Given the description of an element on the screen output the (x, y) to click on. 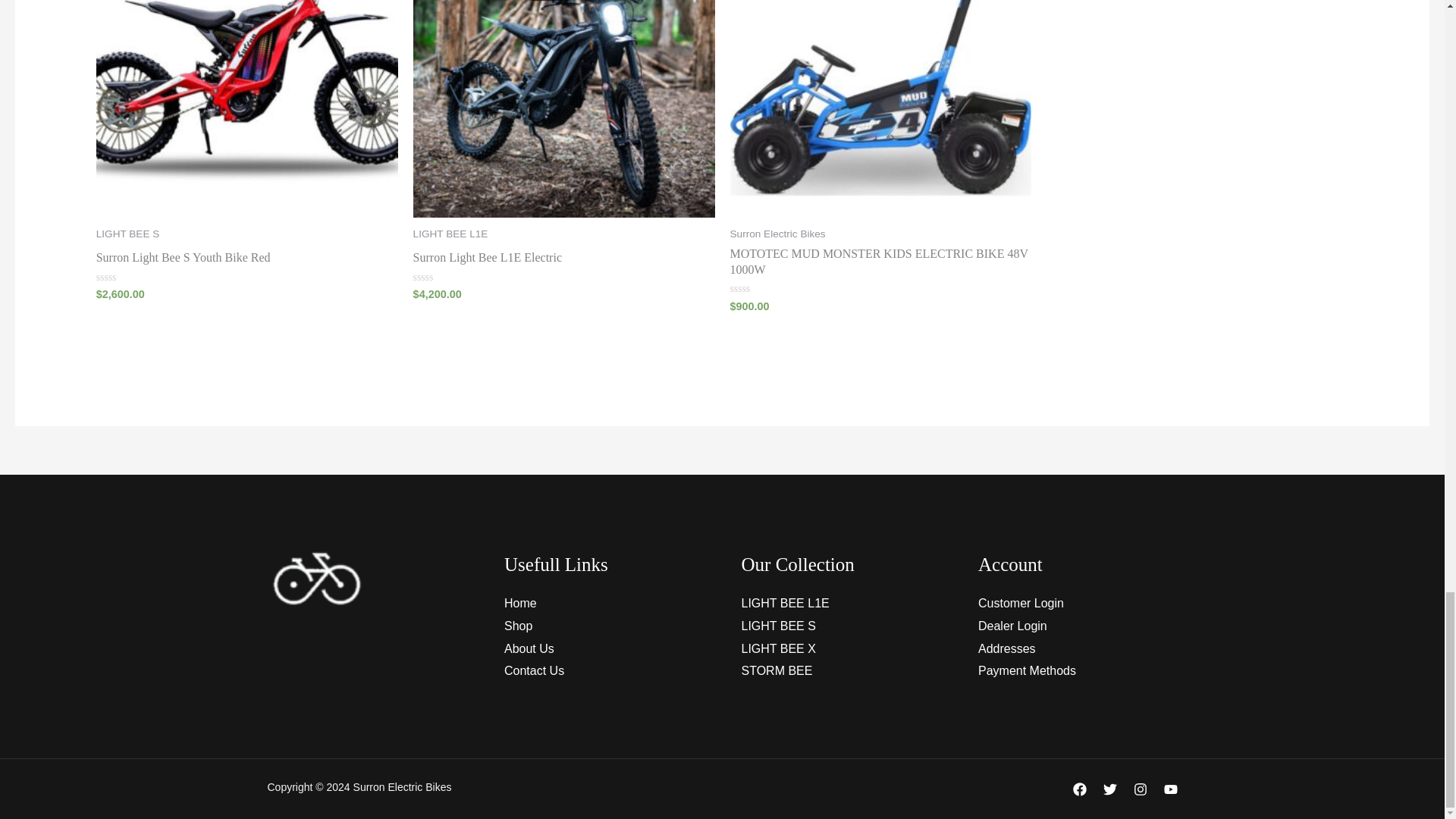
Surron Light Bee S Youth Bike Red (183, 260)
